Given the description of an element on the screen output the (x, y) to click on. 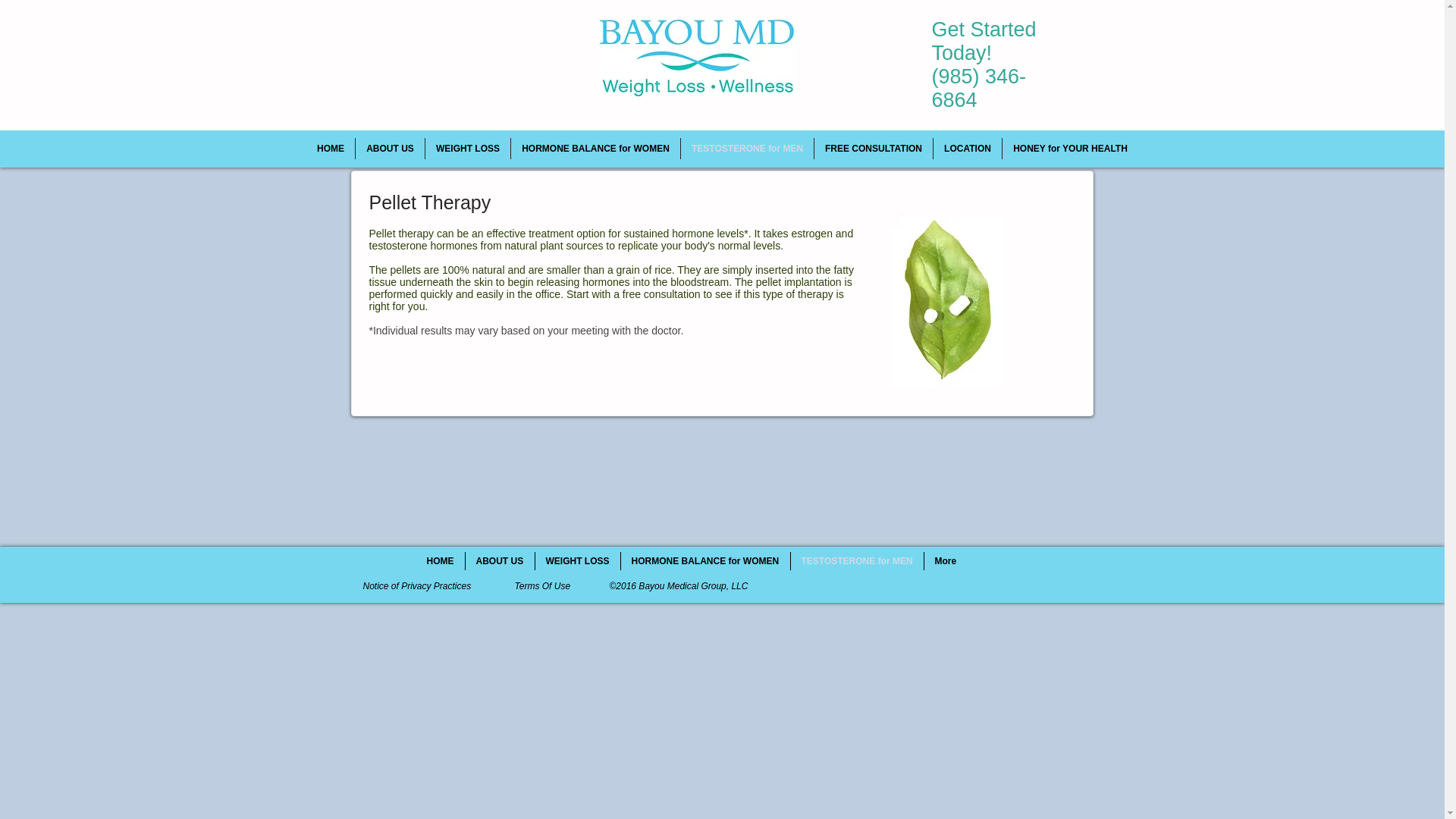
ABOUT US (499, 561)
LOCATION (967, 148)
HOME (439, 561)
TESTOSTERONE for MEN (747, 148)
HOME (330, 148)
ABOUT US (390, 148)
FREE CONSULTATION (873, 148)
WEIGHT LOSS (577, 561)
WEIGHT LOSS (468, 148)
HORMONE BALANCE for WOMEN (595, 148)
